Given the description of an element on the screen output the (x, y) to click on. 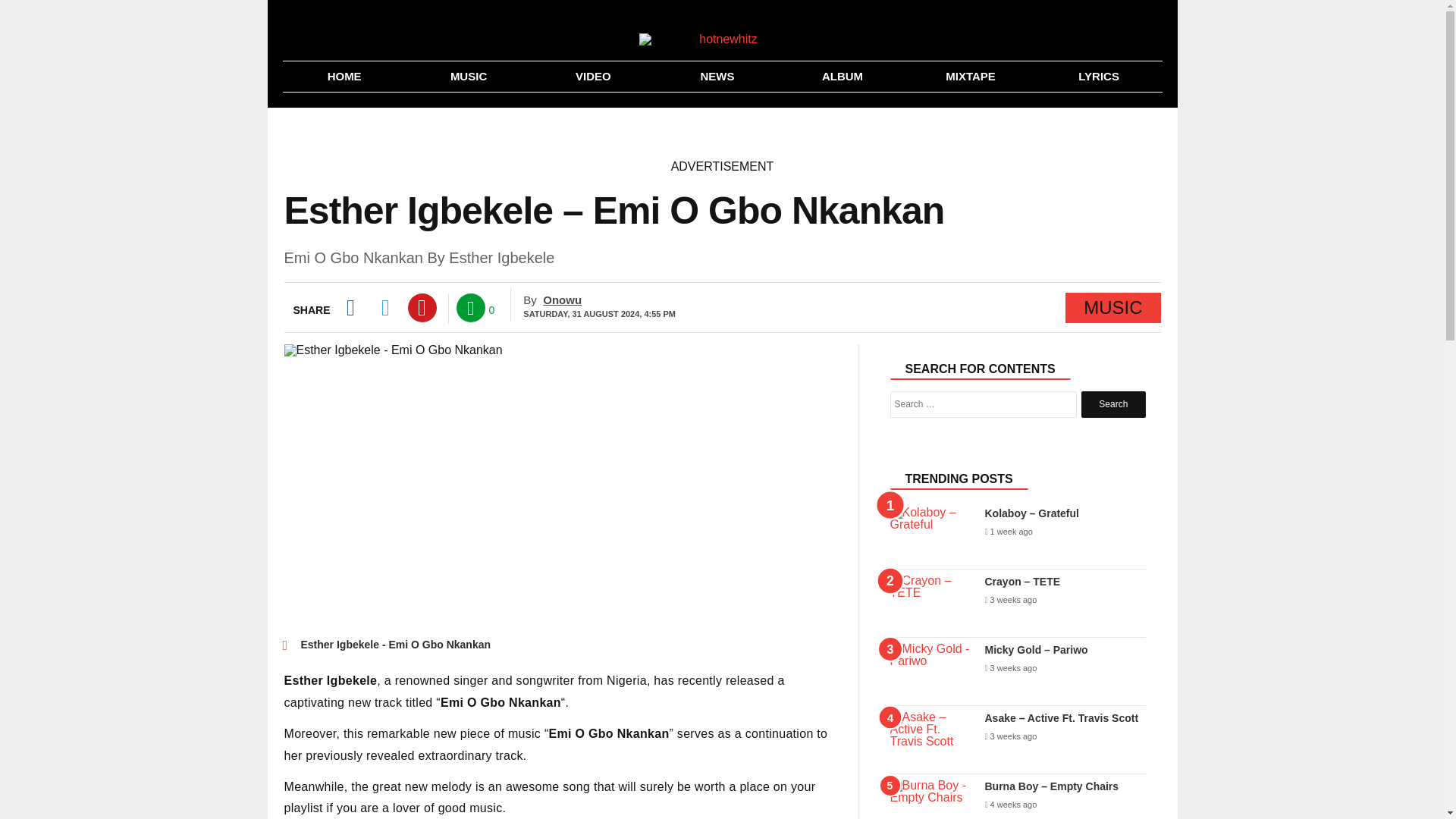
Posts by Onowu (561, 299)
Home (344, 76)
ALBUM (841, 76)
Onowu (561, 299)
News (716, 76)
Album (841, 76)
pinterest (421, 307)
Video (593, 76)
Facebook (349, 307)
MUSIC (468, 76)
